Given the description of an element on the screen output the (x, y) to click on. 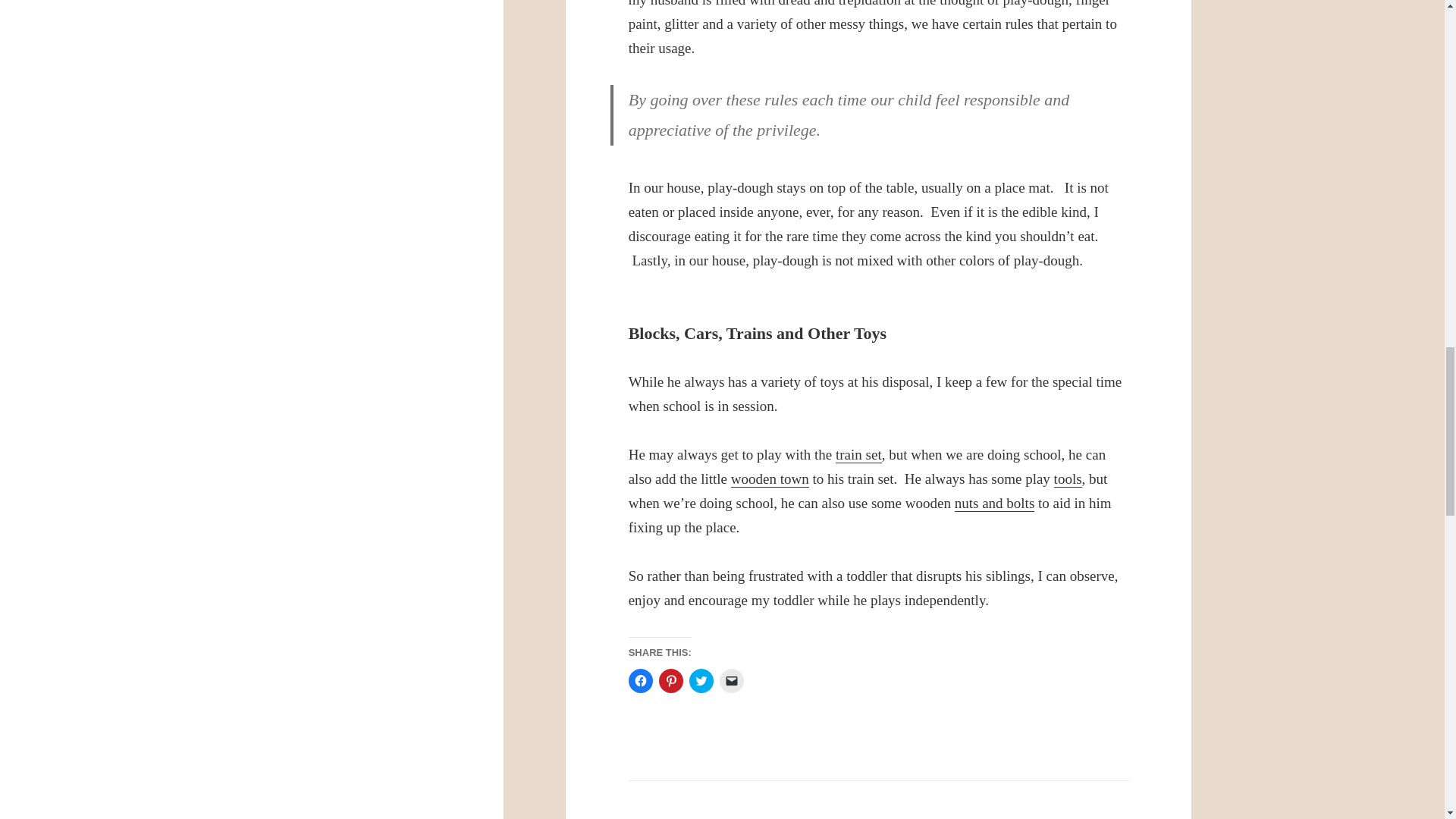
wooden town (769, 478)
Click to share on Twitter (700, 680)
tools (1067, 478)
nuts and bolts (995, 503)
Play Tool Set (1067, 478)
Click to share on Facebook (640, 680)
Click to share on Pinterest (670, 680)
Wooden Train Set (858, 454)
train set (858, 454)
